Given the description of an element on the screen output the (x, y) to click on. 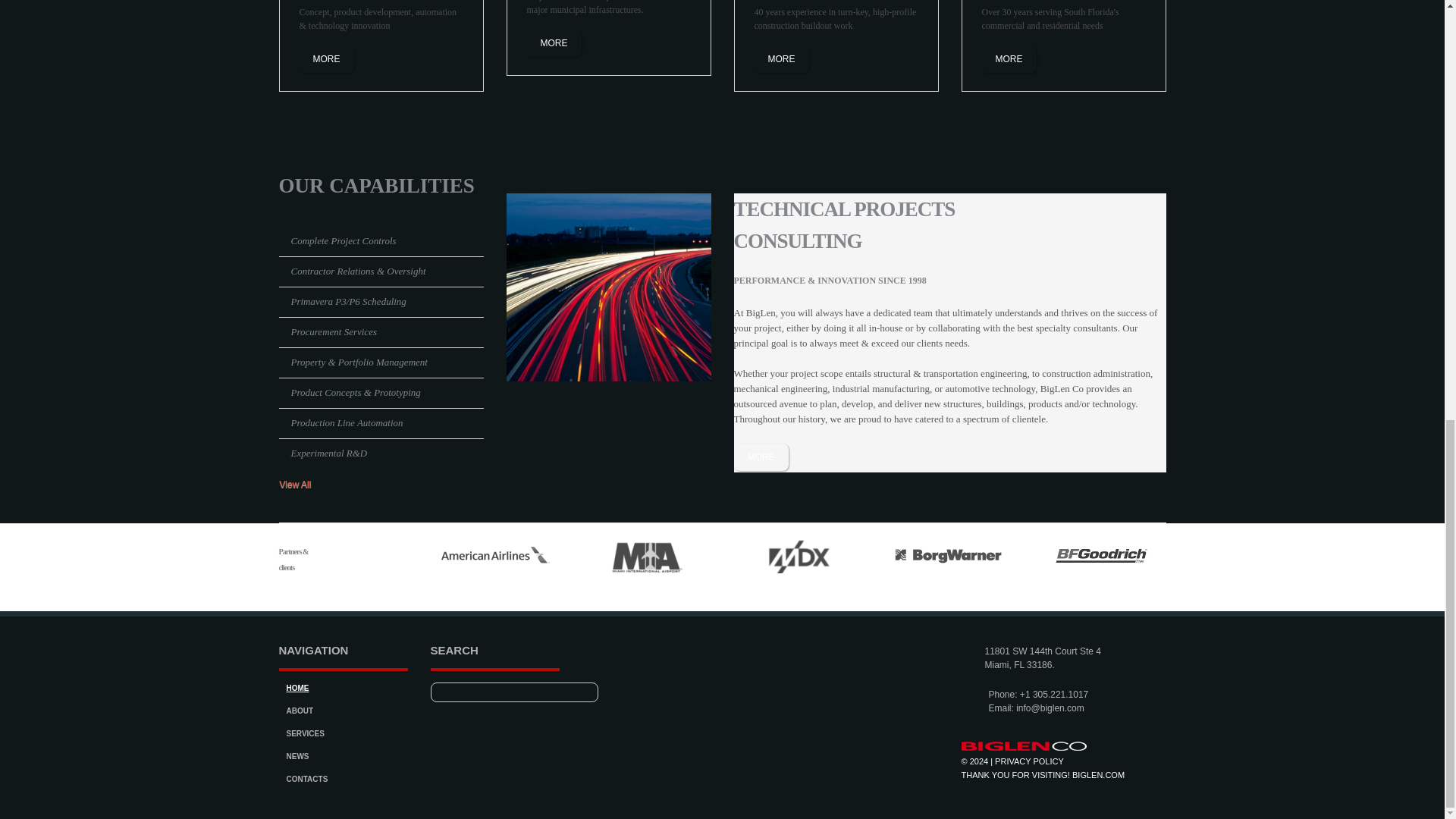
search (577, 692)
MORE (1008, 58)
NEWS (297, 756)
MORE (552, 42)
MORE (761, 456)
HOME (297, 687)
SERVICES (305, 733)
View All (301, 484)
search (577, 692)
Complete Project Controls (343, 240)
more (552, 42)
Procurement Services (334, 331)
MORE (325, 58)
CONTACTS (307, 778)
ABOUT (300, 710)
